Given the description of an element on the screen output the (x, y) to click on. 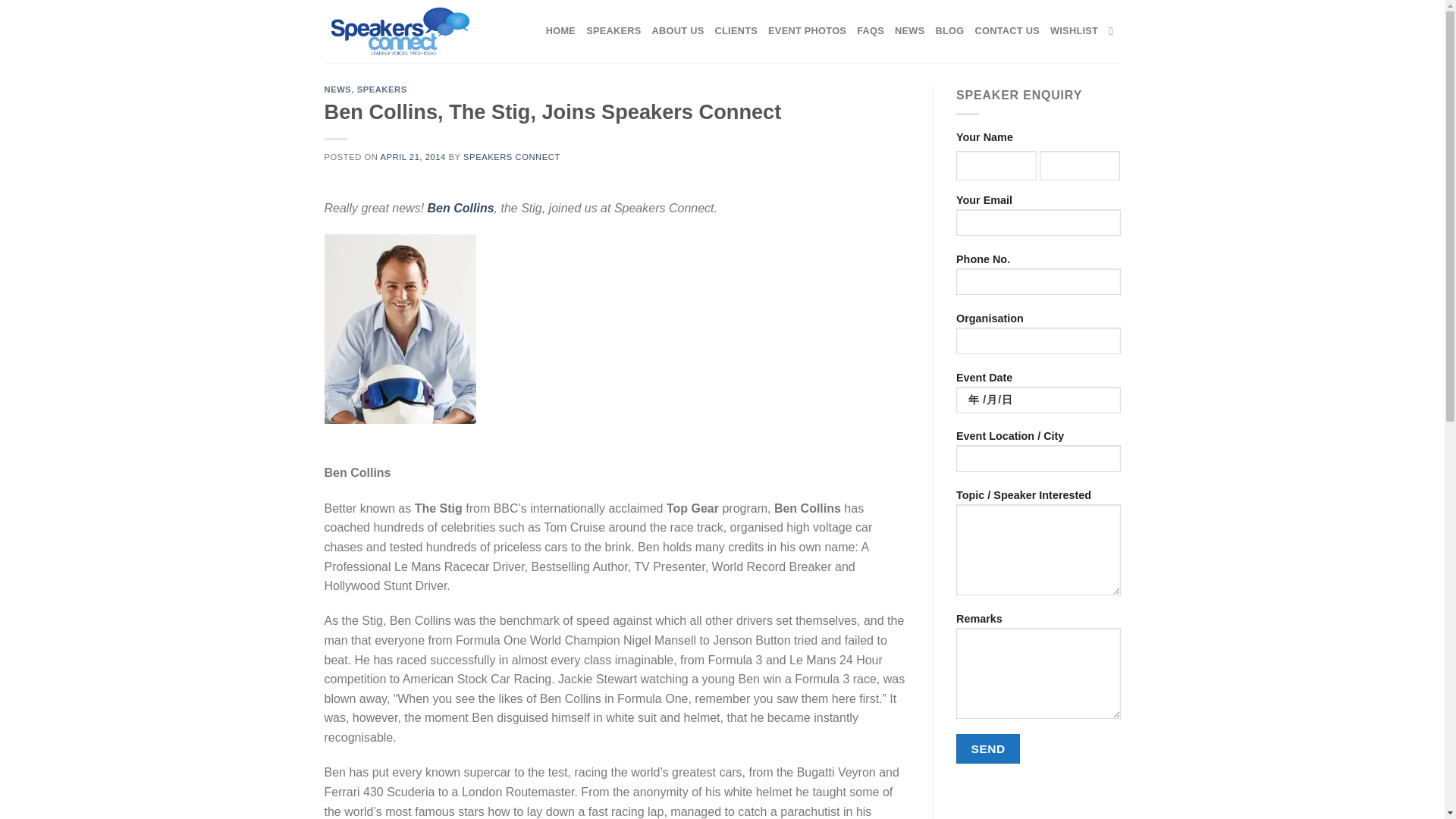
BLOG (948, 31)
APRIL 21, 2014 (412, 156)
NEWS (338, 89)
SPEAKERS CONNECT (511, 156)
Send (988, 748)
HOME (560, 31)
FAQS (870, 31)
SPEAKERS (613, 31)
Ben Collins (461, 207)
EVENT PHOTOS (806, 31)
